Given the description of an element on the screen output the (x, y) to click on. 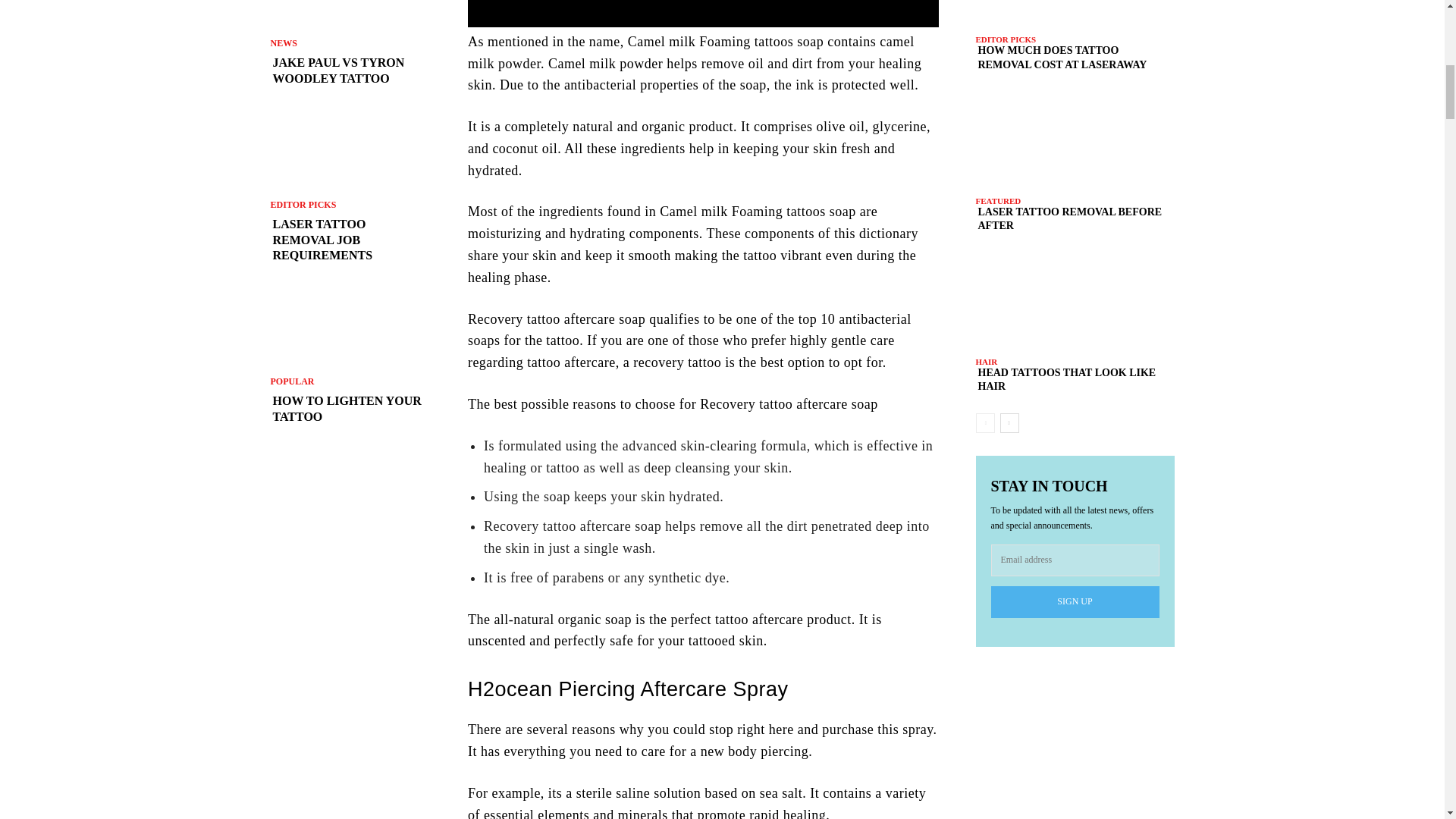
Jake Paul Vs Tyron Woodley Tattoo (349, 70)
Jake Paul Vs Tyron Woodley Tattoo (349, 14)
Laser Tattoo Removal Job Requirements (349, 149)
